Given the description of an element on the screen output the (x, y) to click on. 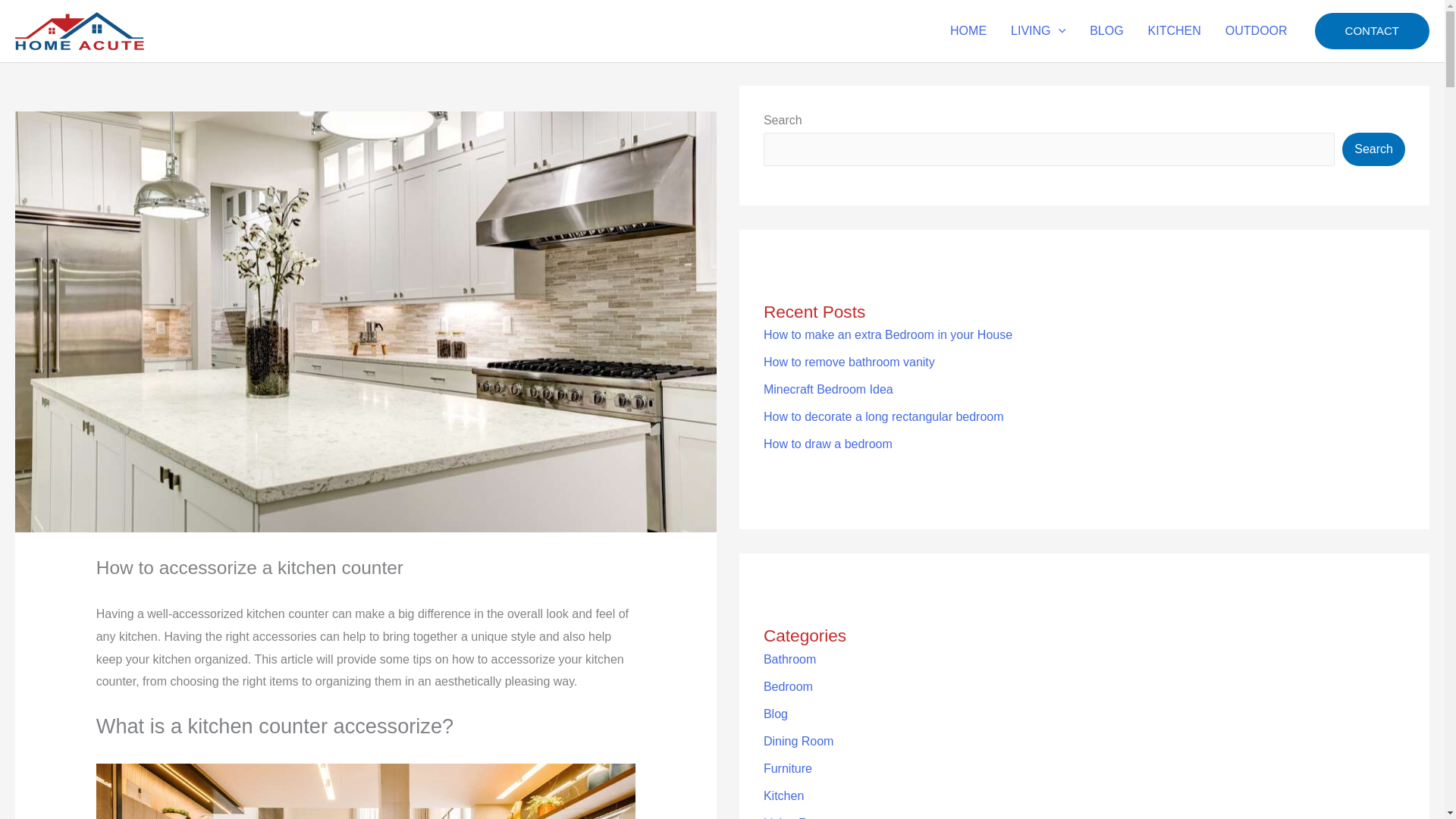
CONTACT (1371, 31)
How to decorate a long rectangular bedroom (883, 416)
Kitchen (782, 795)
How to remove bathroom vanity (848, 361)
Bathroom (788, 658)
OUTDOOR (1256, 30)
LIVING (1037, 30)
Bedroom (787, 686)
Search (1373, 149)
Minecraft Bedroom Idea (827, 389)
